Given the description of an element on the screen output the (x, y) to click on. 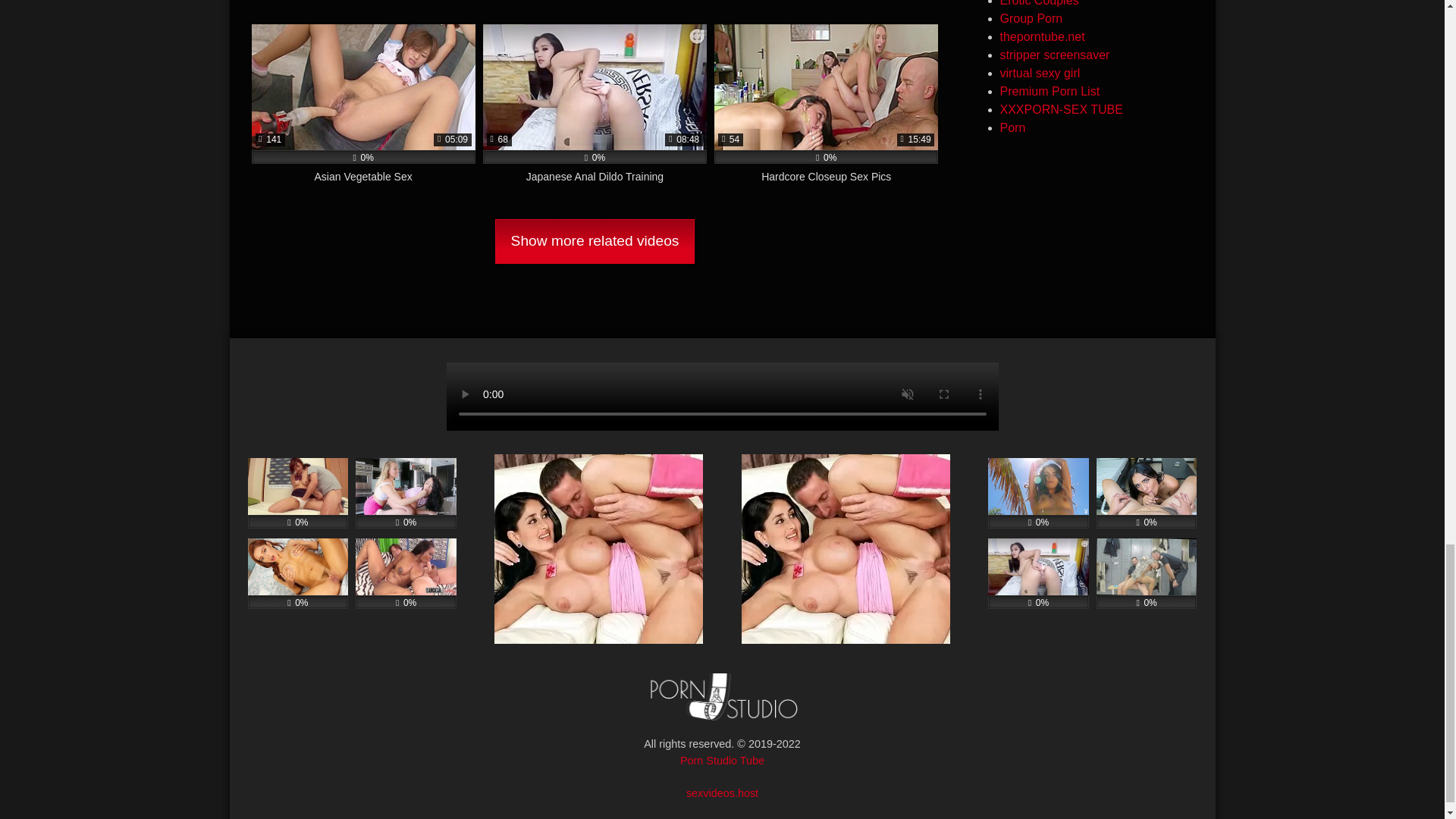
Big Clit Pron (825, 4)
Show more related videos (594, 241)
Pawg Gf Creampie (594, 4)
Hard Sex In Bedroom (363, 4)
Japanese Anal Dildo Training (594, 112)
Asian Vegetable Sex (363, 112)
